Given the description of an element on the screen output the (x, y) to click on. 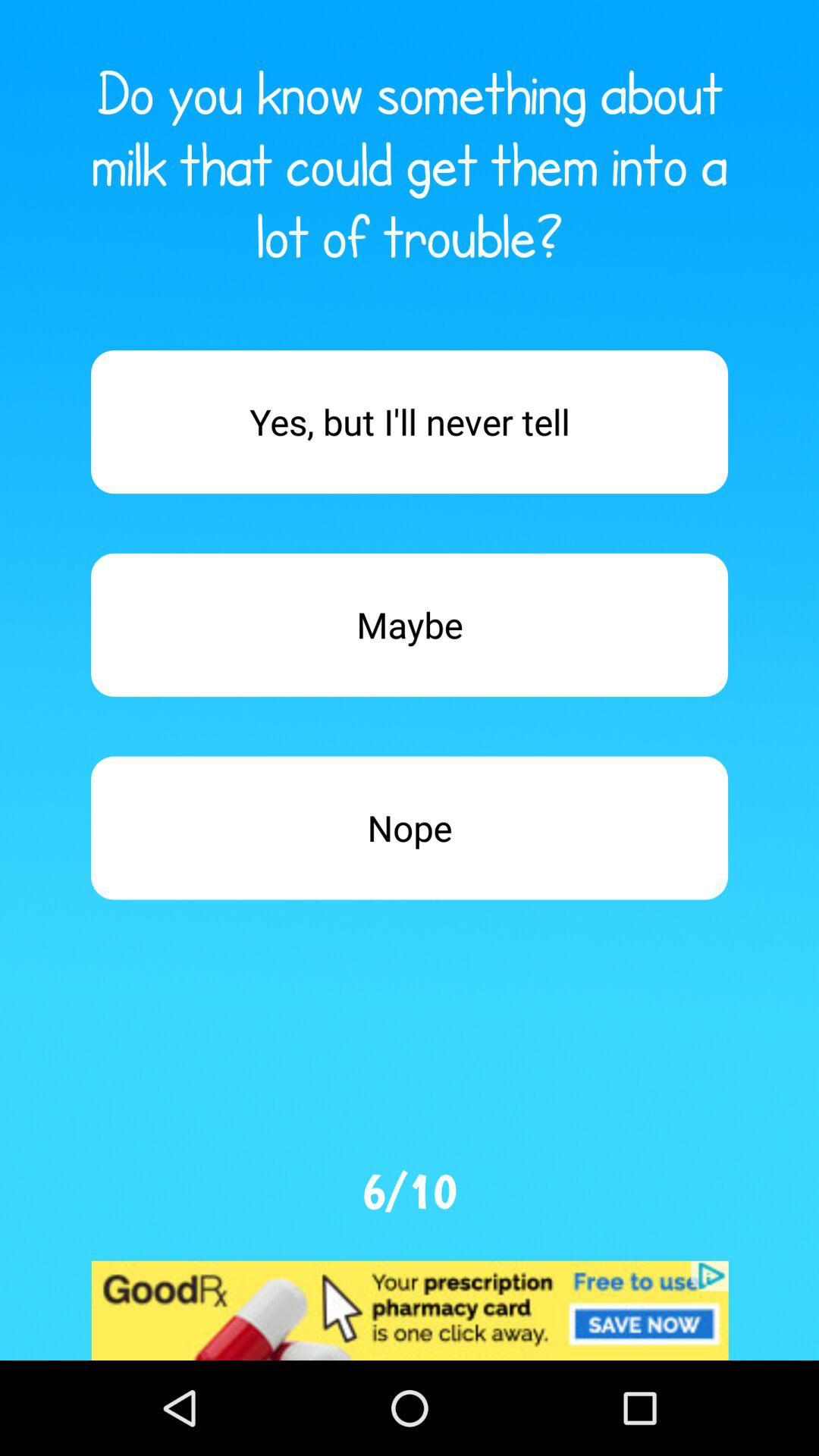
toggle yes but i 'll never tell answer option (409, 421)
